Given the description of an element on the screen output the (x, y) to click on. 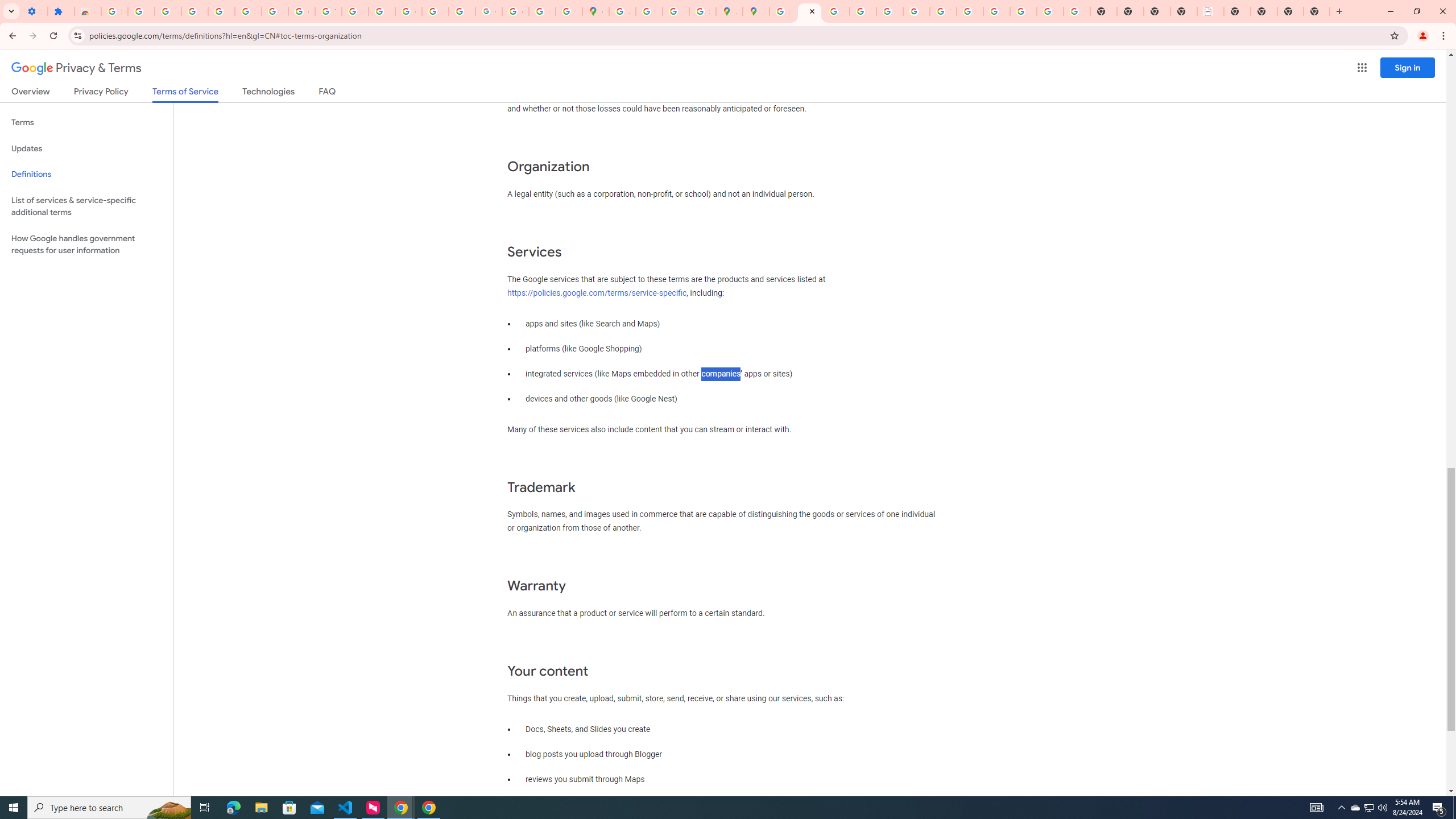
https://scholar.google.com/ (382, 11)
Privacy Policy (100, 93)
List of services & service-specific additional terms (86, 206)
